Given the description of an element on the screen output the (x, y) to click on. 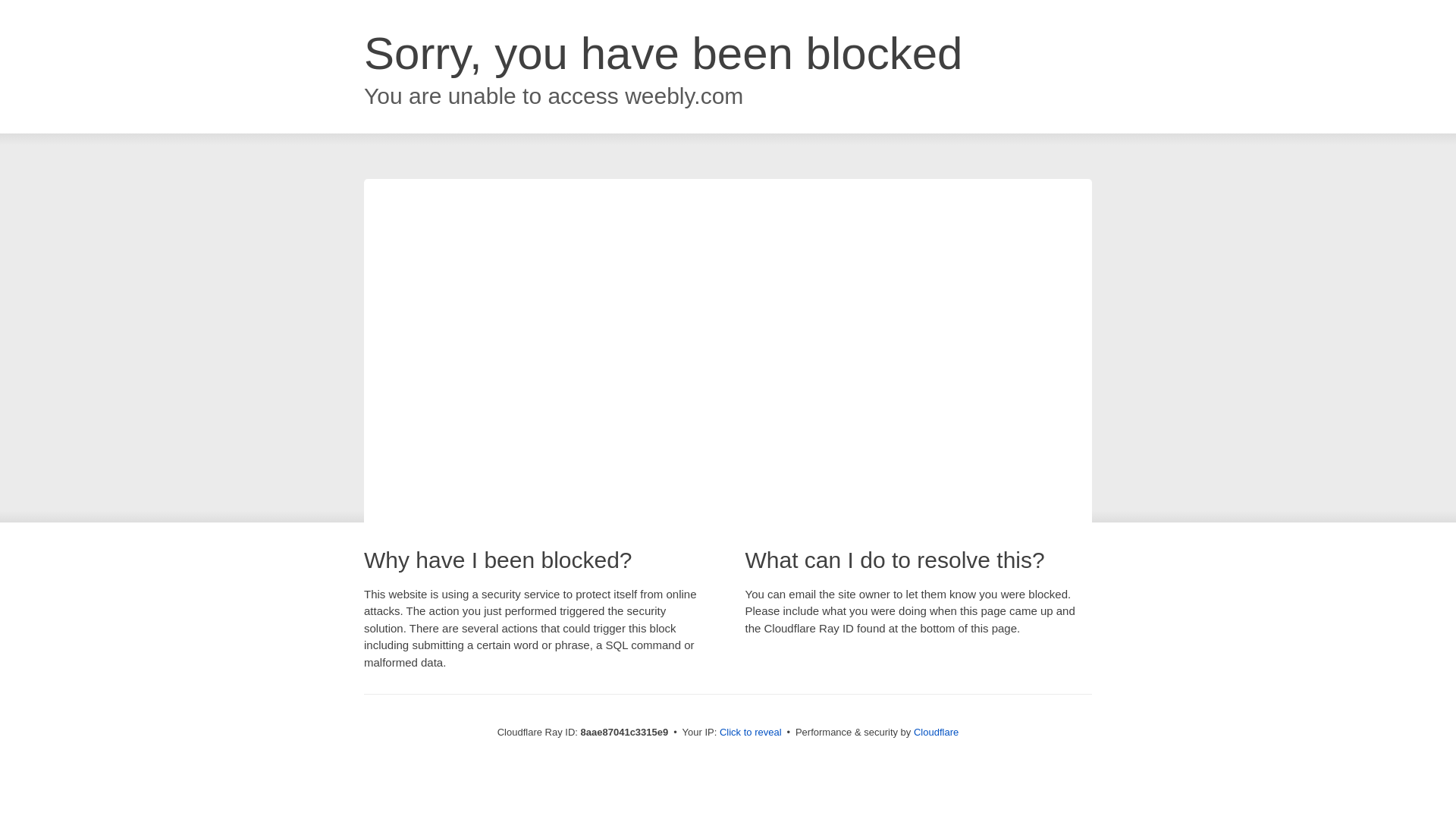
Click to reveal (750, 732)
Cloudflare (936, 731)
